Given the description of an element on the screen output the (x, y) to click on. 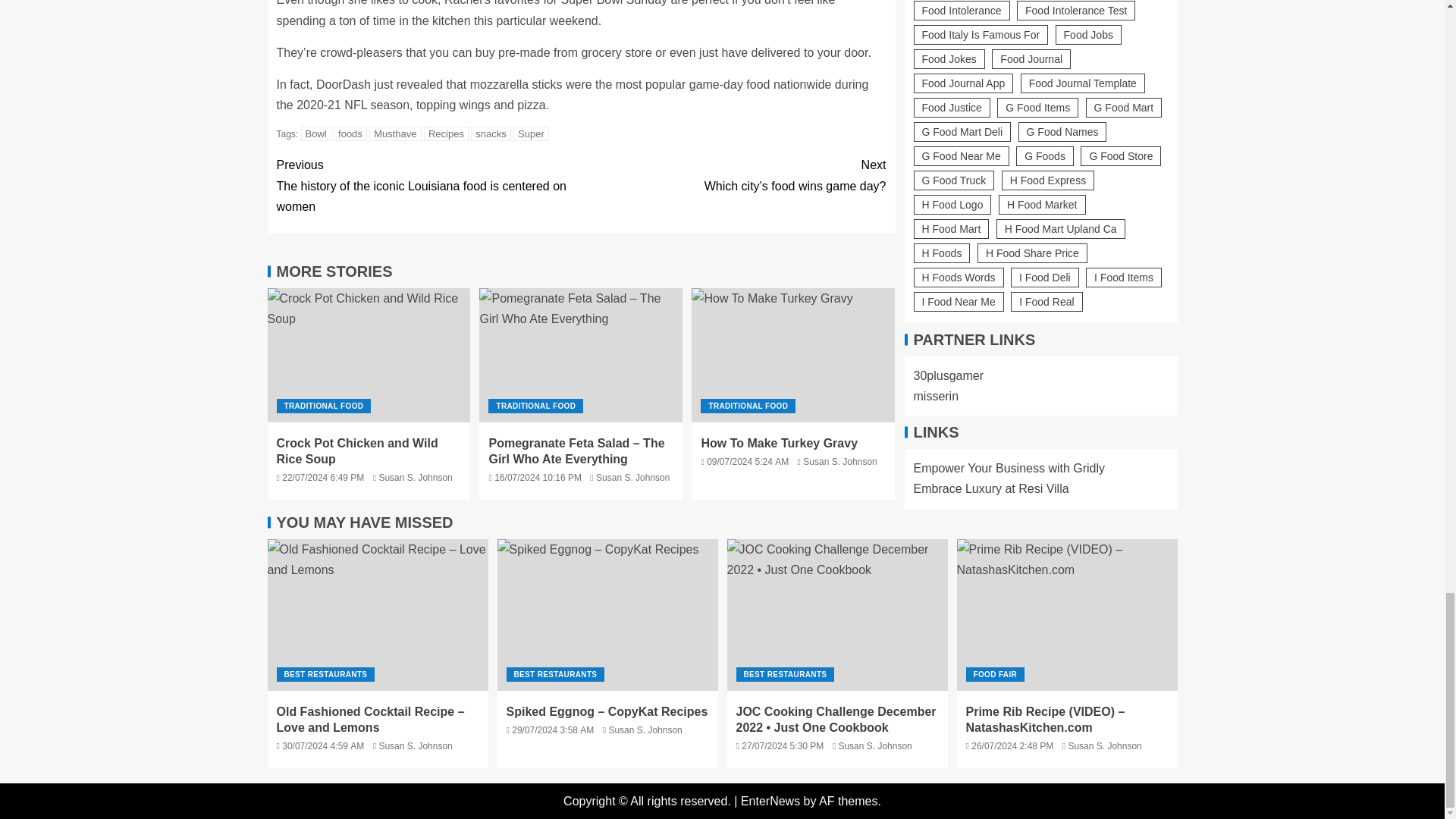
How To Make Turkey Gravy (793, 355)
Bowl (316, 133)
Crock Pot Chicken and Wild Rice Soup (368, 355)
